Given the description of an element on the screen output the (x, y) to click on. 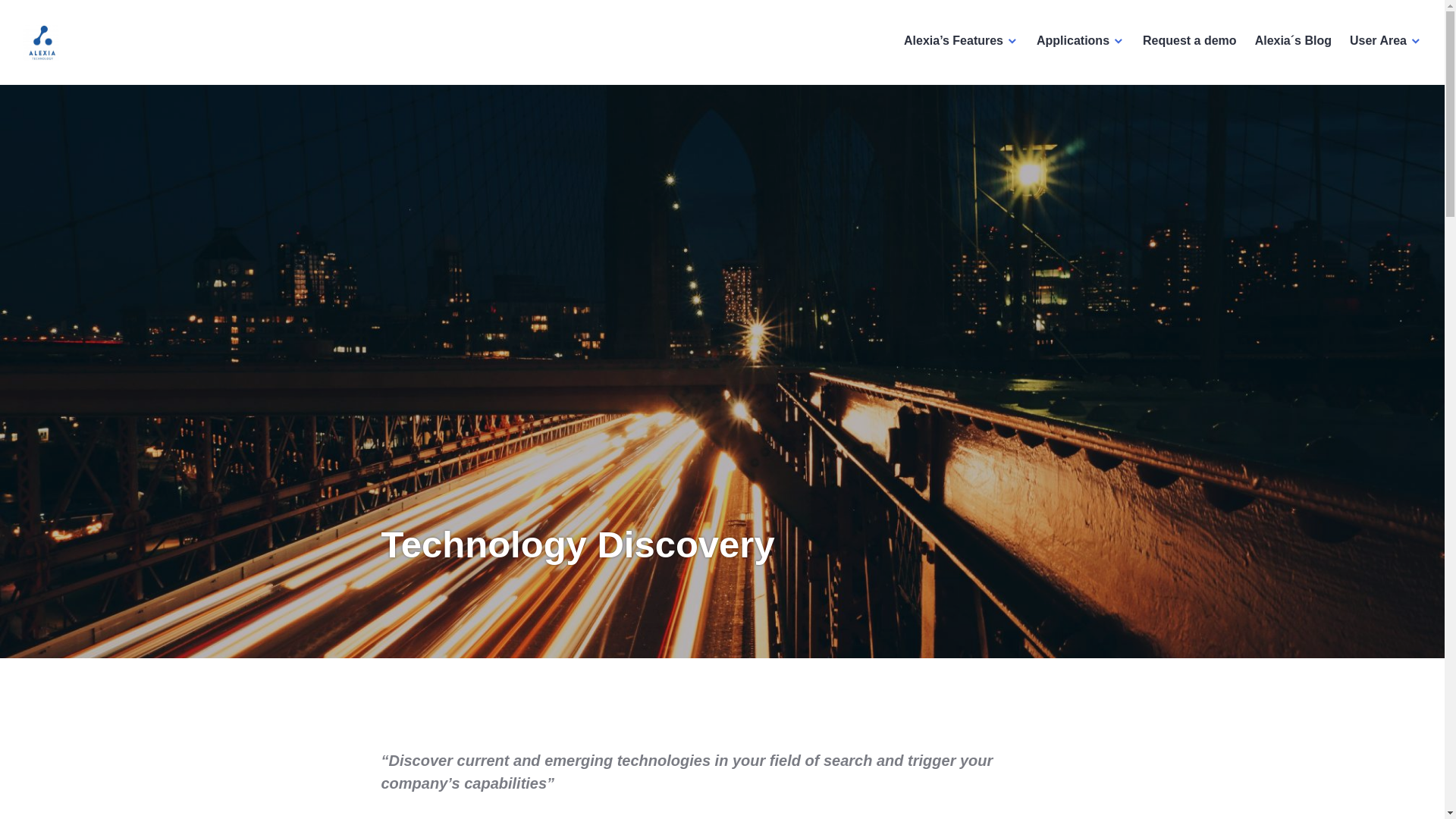
Request a demo (1189, 41)
Applications (1080, 41)
User Area (1385, 41)
